Given the description of an element on the screen output the (x, y) to click on. 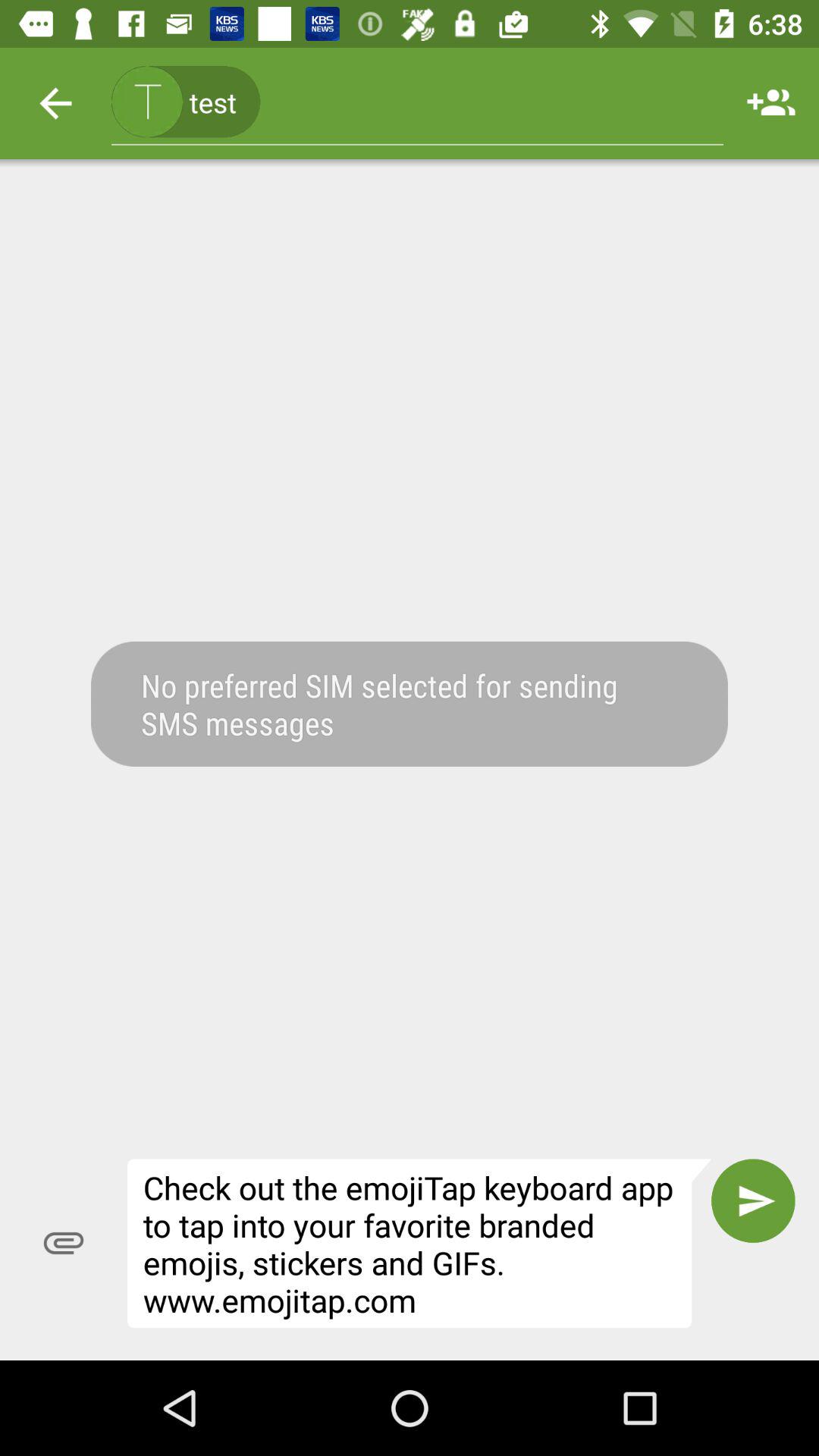
turn off the icon at the top right corner (771, 103)
